Given the description of an element on the screen output the (x, y) to click on. 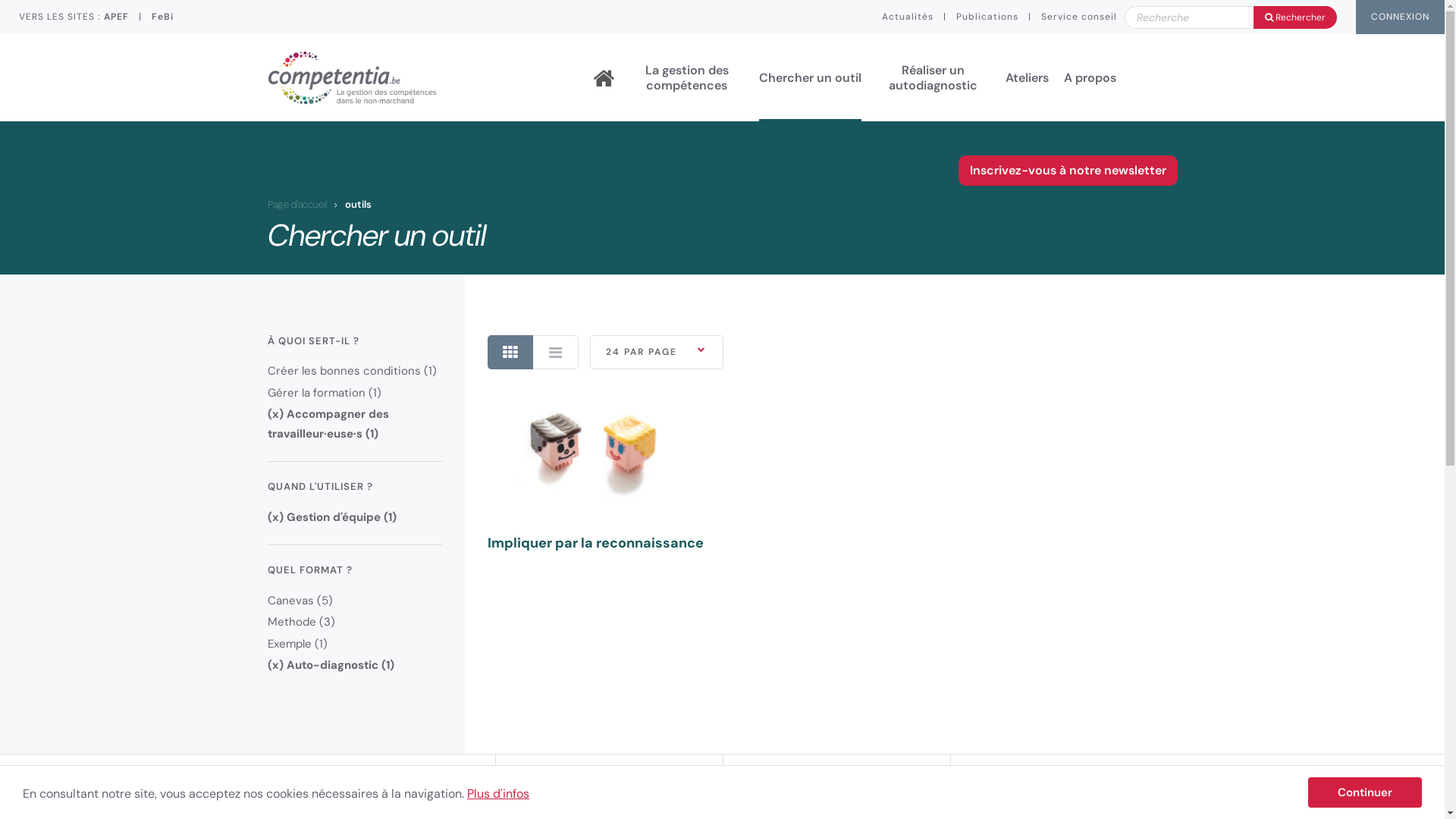
Impliquer par la reconnaissance Element type: text (596, 471)
Ateliers Element type: text (1026, 77)
Publications Element type: text (987, 16)
Rechercher Element type: text (1294, 17)
Methode (3) Element type: text (300, 621)
Accueil Element type: text (602, 77)
FeBi Element type: text (162, 16)
A propos Element type: text (1089, 77)
Aller au contenu principal Element type: text (0, 0)
Exemple (1) Element type: text (296, 643)
Canevas (5) Element type: text (299, 600)
Continuer Element type: text (1364, 792)
CONNEXION Element type: text (1399, 17)
Plus d'infos Element type: text (498, 793)
Rechercher Element type: hover (1230, 17)
Service conseil Element type: text (1079, 16)
(x) Auto-diagnostic (1) Element type: text (329, 664)
Page d'accueil Element type: text (296, 203)
Chercher un outil Element type: text (809, 77)
APEF Element type: text (115, 16)
